Given the description of an element on the screen output the (x, y) to click on. 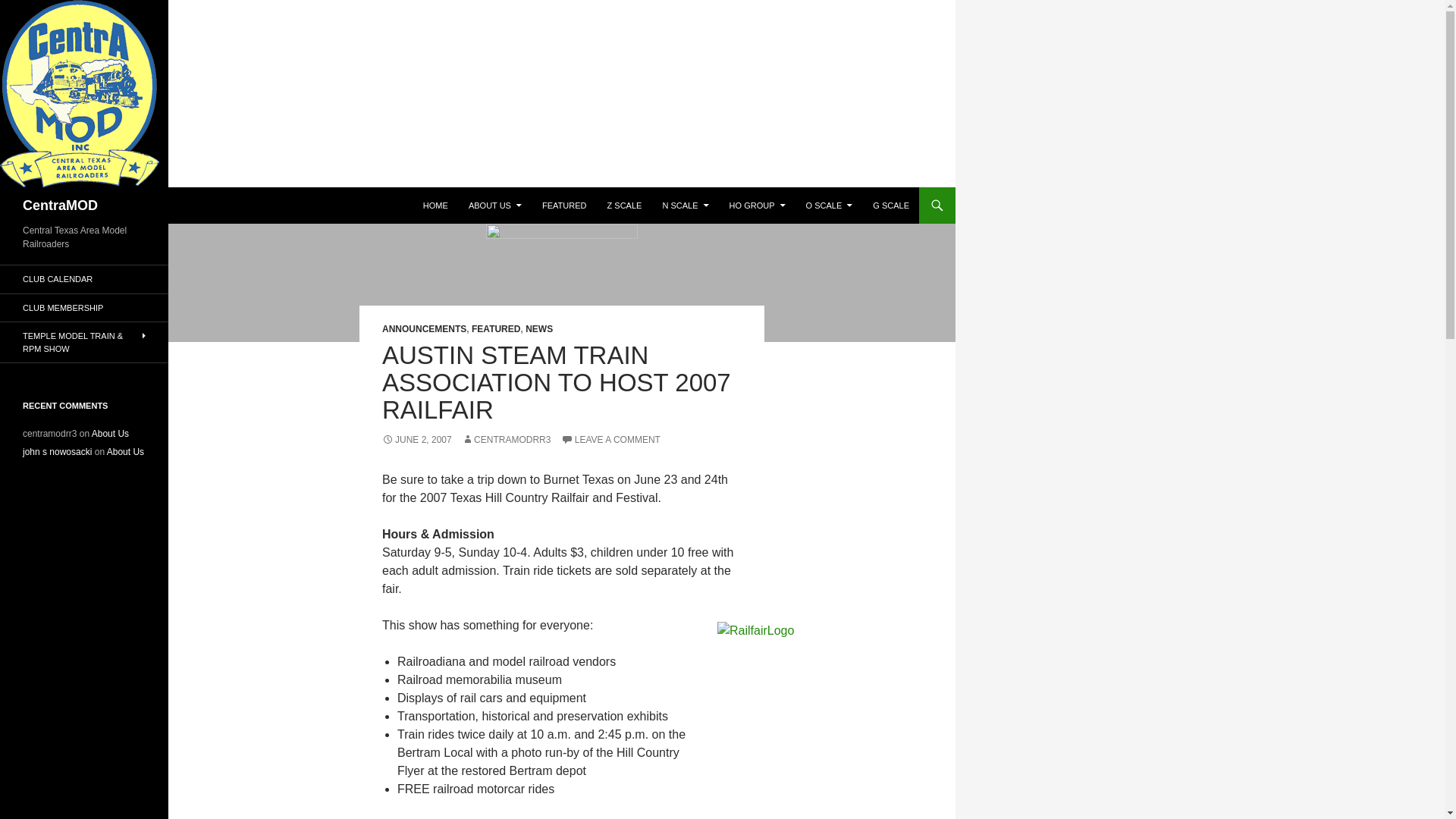
ABOUT US (495, 205)
CentraMOD (60, 205)
HOME (435, 205)
O SCALE (828, 205)
G SCALE (890, 205)
Home (435, 205)
FEATURED (563, 205)
Z SCALE (624, 205)
